Given the description of an element on the screen output the (x, y) to click on. 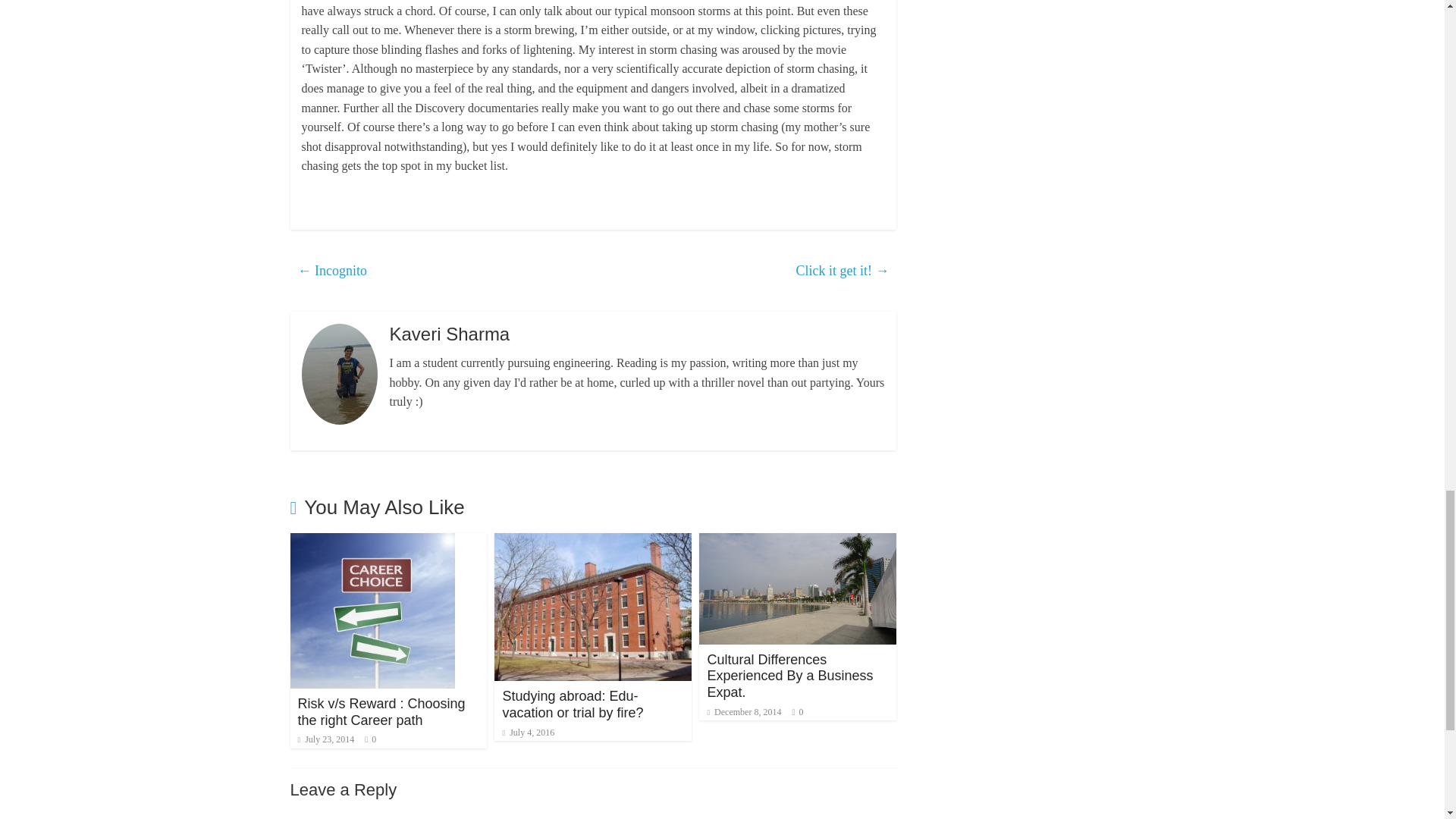
Studying abroad: Edu-vacation or trial by fire? (572, 704)
5:29 pm (528, 732)
4:32 pm (325, 738)
Studying abroad: Edu-vacation or trial by fire? (593, 542)
